Given the description of an element on the screen output the (x, y) to click on. 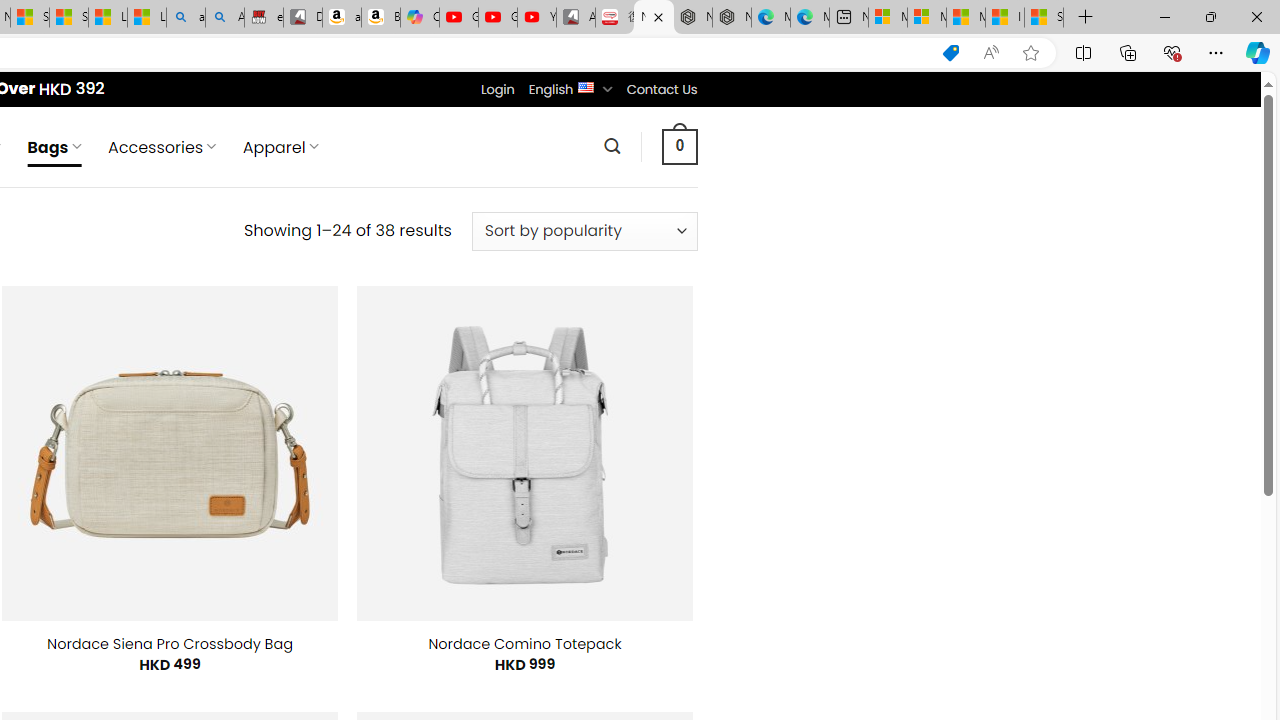
Nordace - Nordace has arrived Hong Kong (732, 17)
  0   (679, 146)
